Given the description of an element on the screen output the (x, y) to click on. 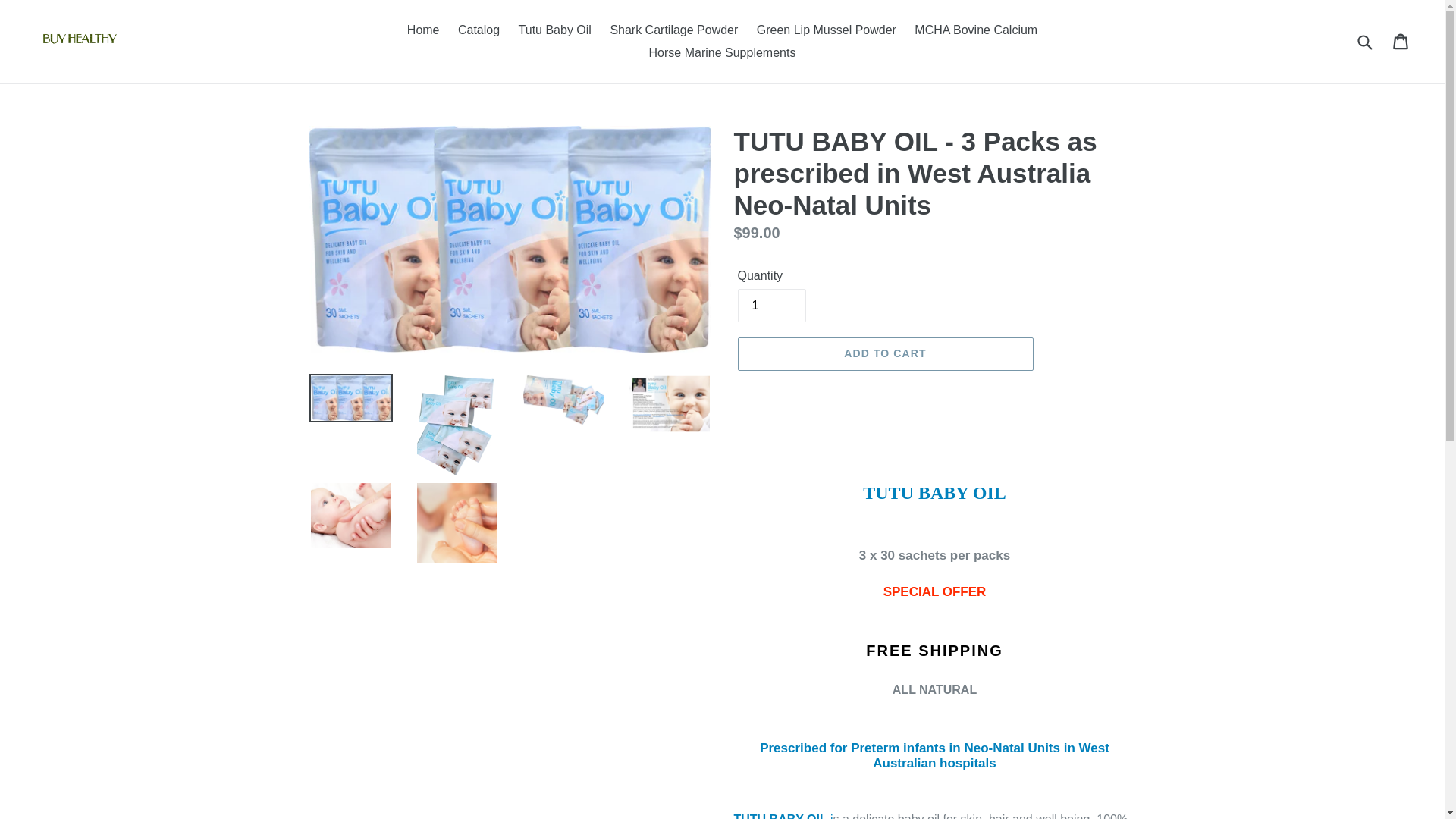
Home (422, 29)
Catalog (477, 29)
Horse Marine Supplements (722, 52)
MCHA Bovine Calcium (976, 29)
ADD TO CART (884, 354)
1 (770, 305)
Shark Cartilage Powder (673, 29)
Green Lip Mussel Powder (826, 29)
Tutu Baby Oil (554, 29)
